Given the description of an element on the screen output the (x, y) to click on. 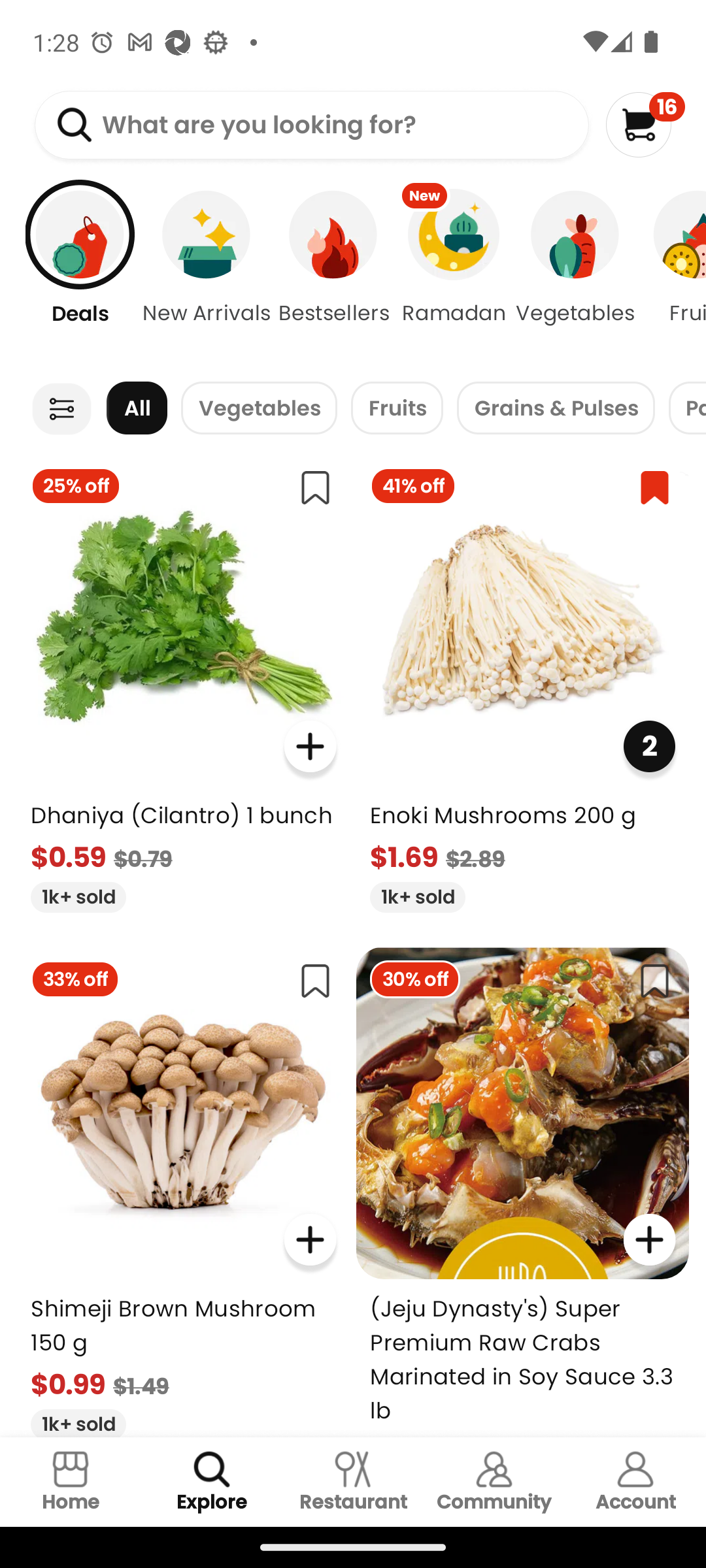
What are you looking for? (311, 124)
16 (644, 124)
Deals (70, 274)
New Arrivals (206, 274)
Bestsellers (333, 274)
New Ramadan (453, 274)
Vegetables (575, 274)
All (136, 407)
Vegetables (258, 407)
Fruits (396, 407)
Grains & Pulses (555, 407)
2 (648, 746)
Home (70, 1482)
Explore (211, 1482)
Restaurant (352, 1482)
Community (493, 1482)
Account (635, 1482)
